Given the description of an element on the screen output the (x, y) to click on. 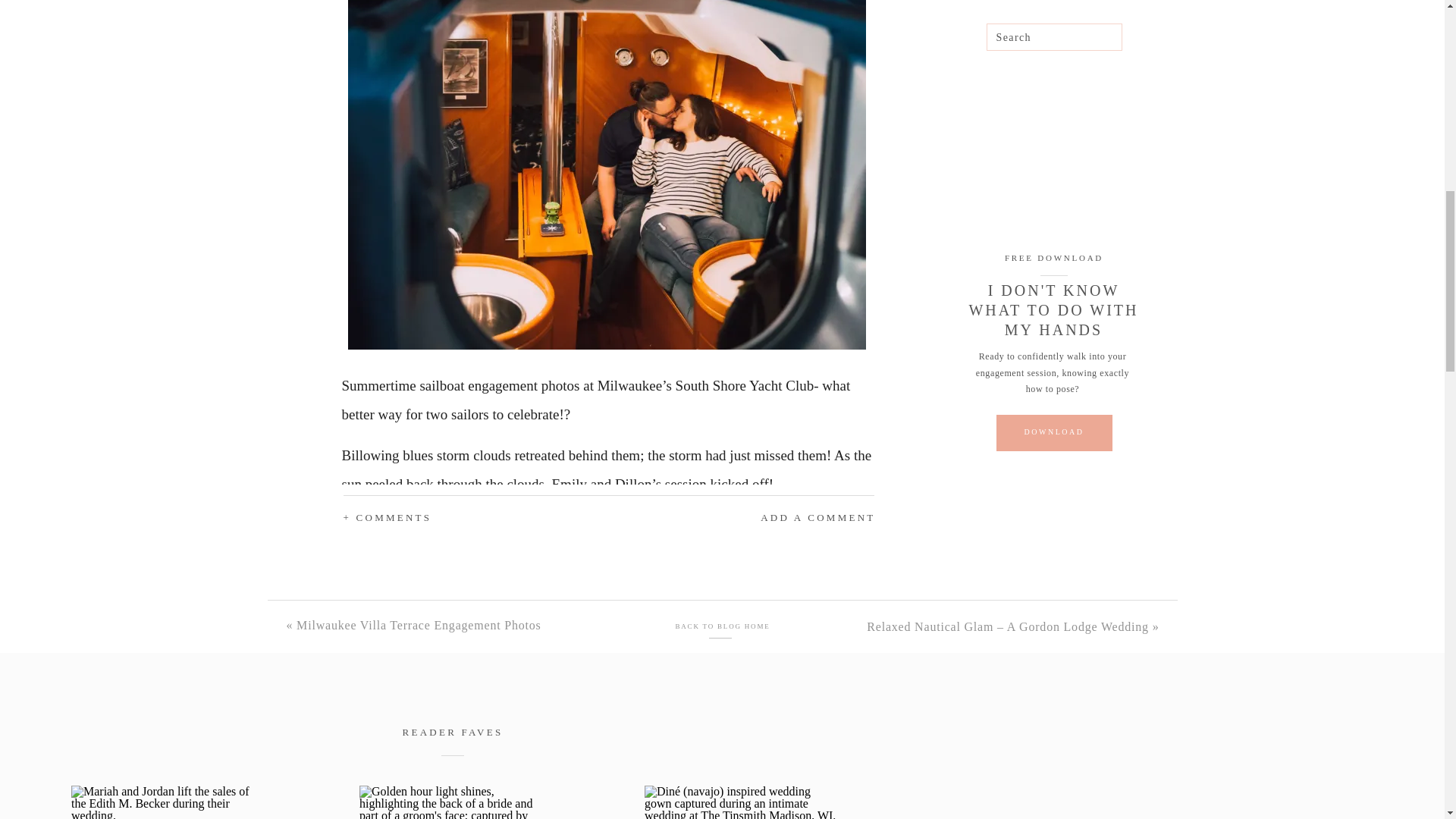
Intimate boat wedding in Northern Wisconsin (167, 802)
DOWNLOAD (1053, 431)
Milwaukee Villa Terrace Engagement Photos (419, 625)
ADD A COMMENT (776, 518)
BACK TO BLOG HOME (722, 626)
